Given the description of an element on the screen output the (x, y) to click on. 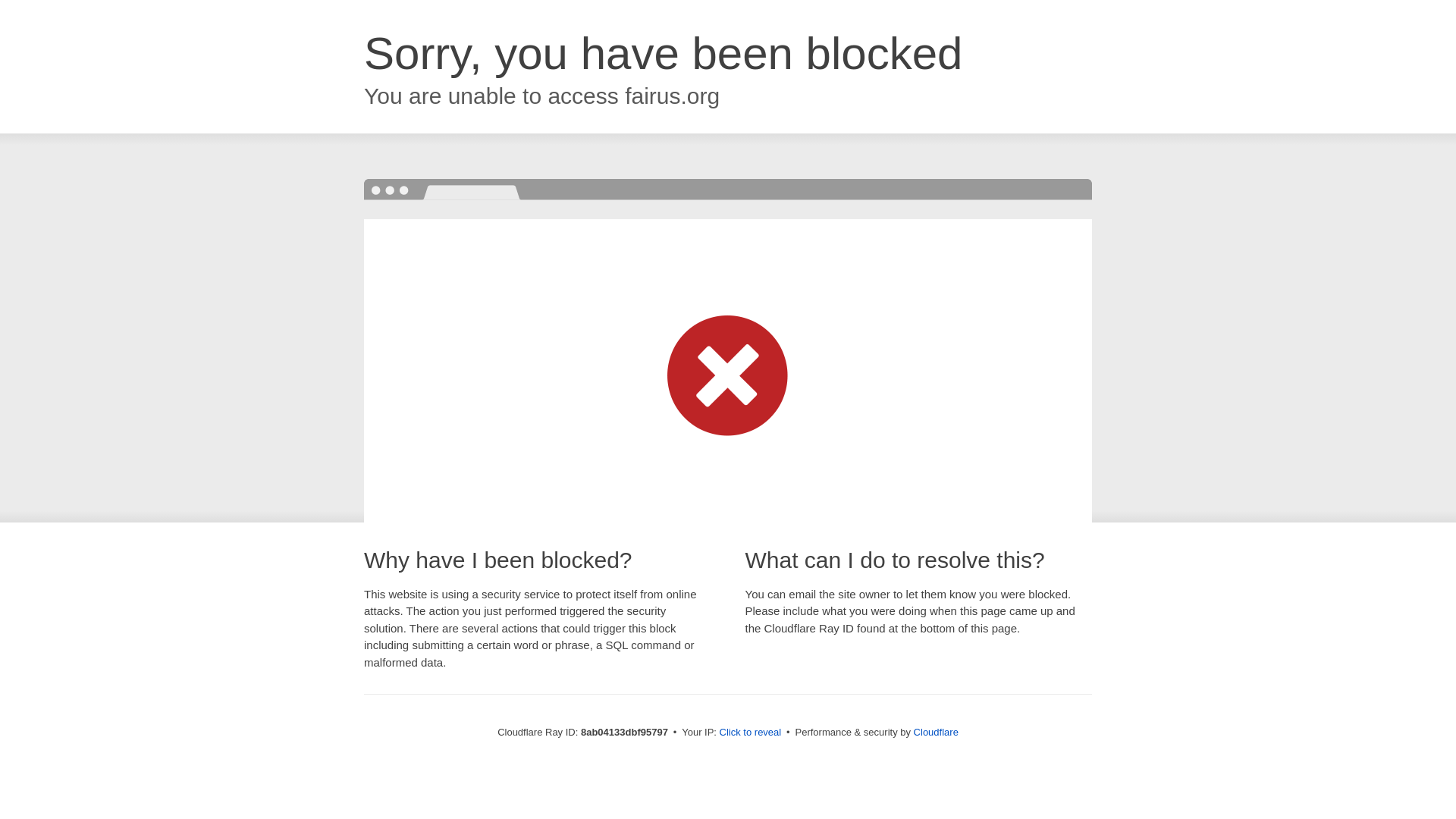
Cloudflare (936, 731)
Click to reveal (750, 732)
